Given the description of an element on the screen output the (x, y) to click on. 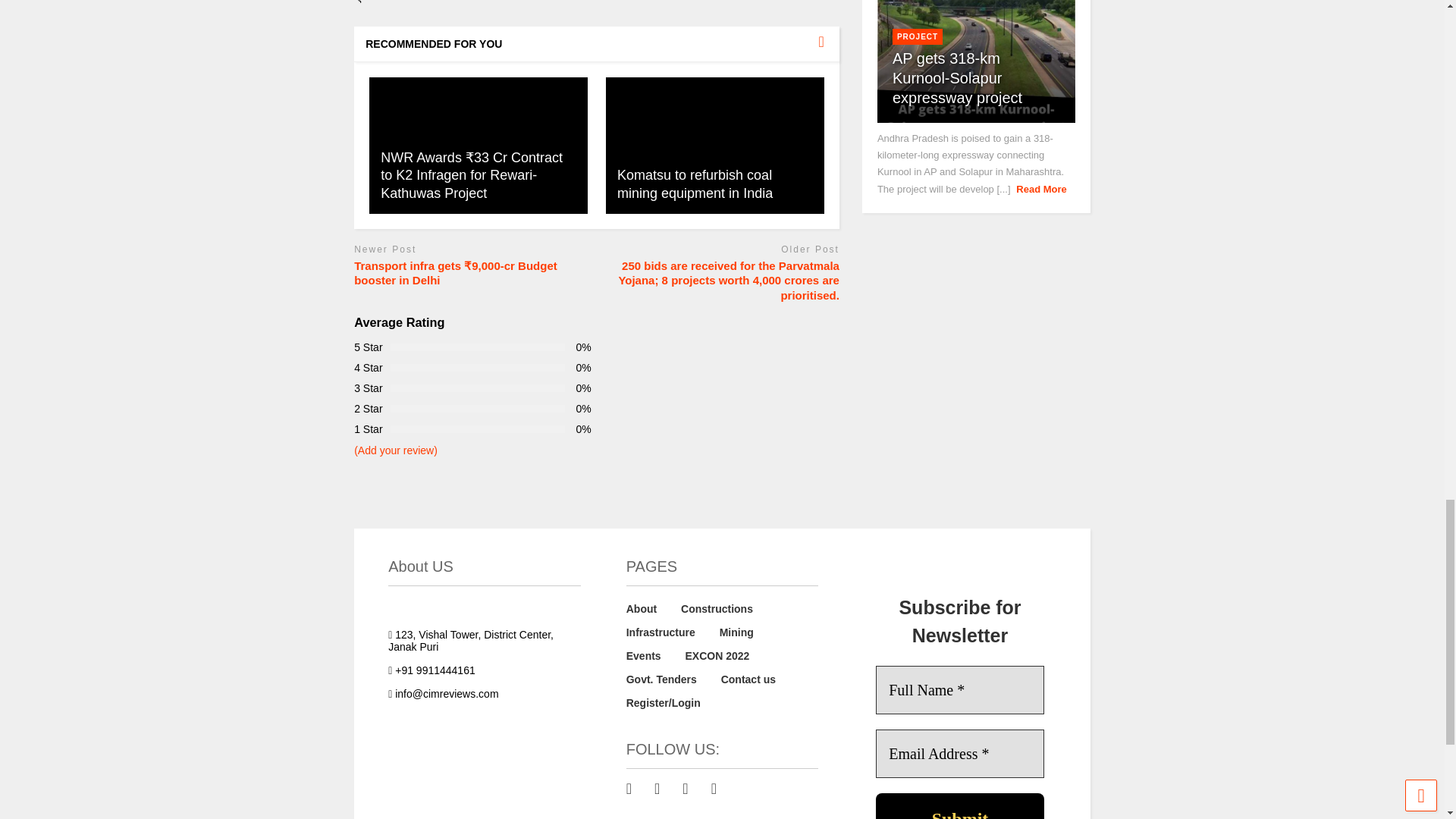
Click to read (714, 144)
Submit (959, 806)
Click to read (478, 144)
